Given the description of an element on the screen output the (x, y) to click on. 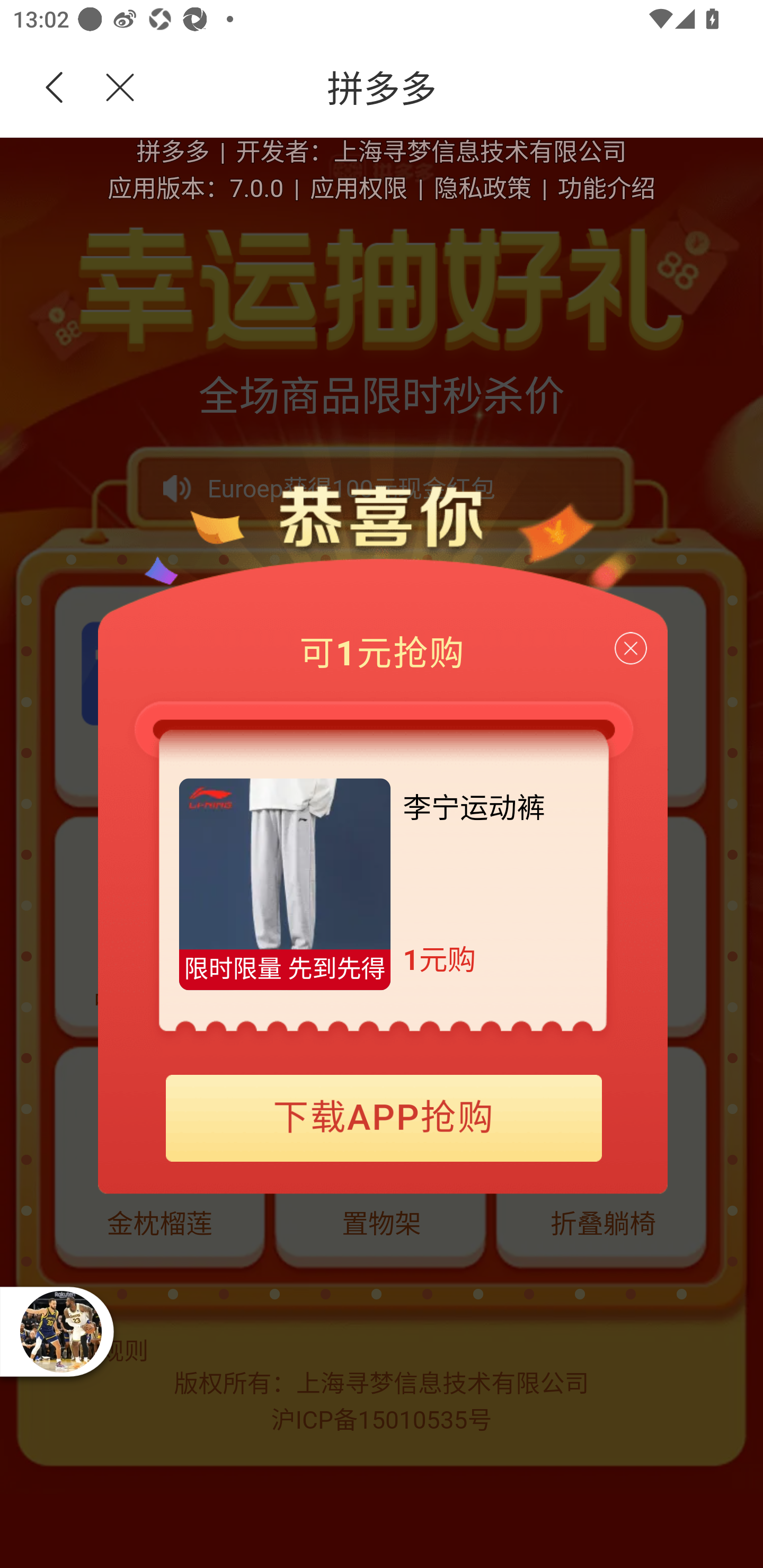
 (109, 87)
拼多多 (451, 87)
 返回 (54, 87)
播放器 (60, 1331)
